Given the description of an element on the screen output the (x, y) to click on. 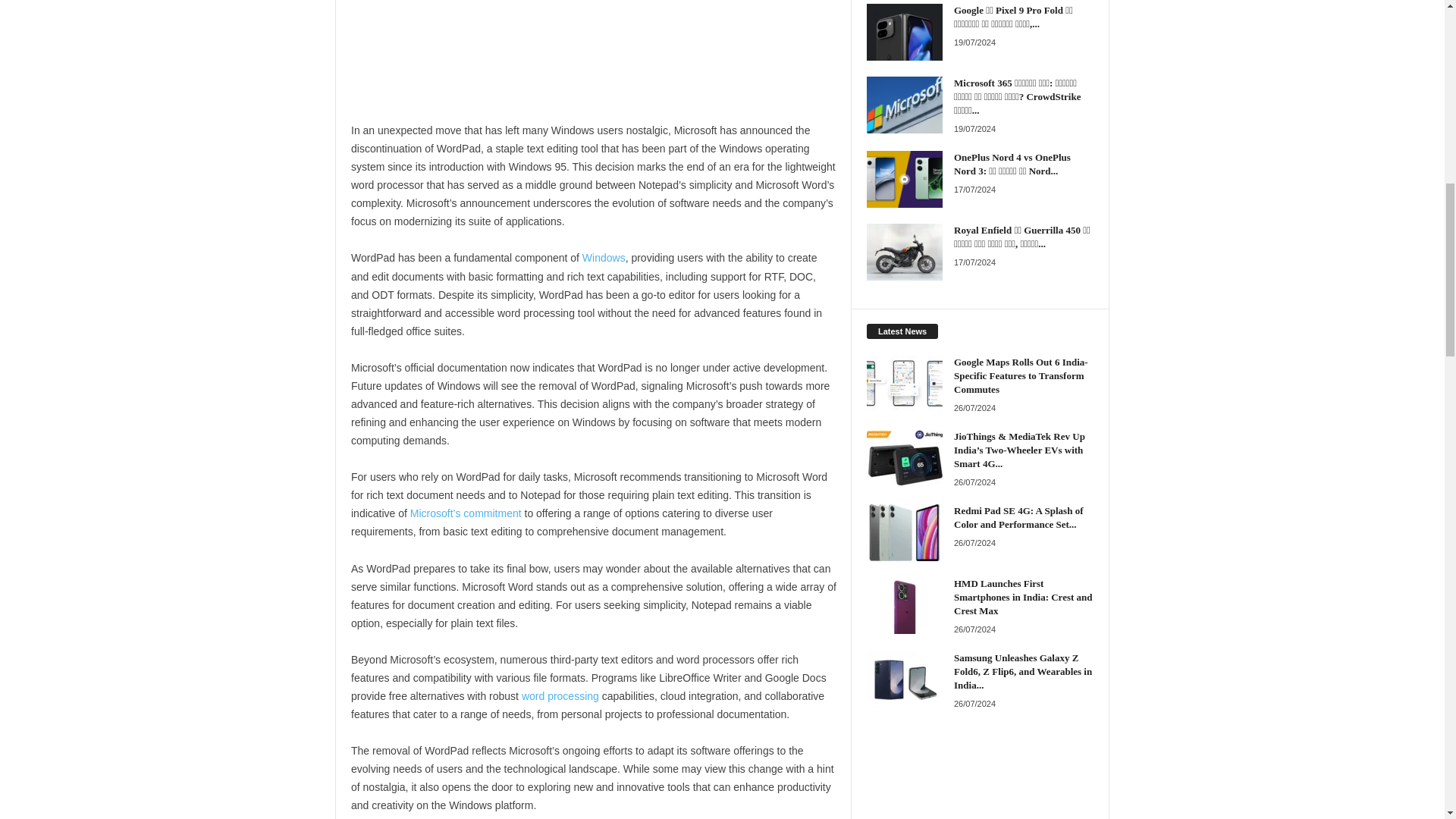
Advertisement (592, 60)
